Given the description of an element on the screen output the (x, y) to click on. 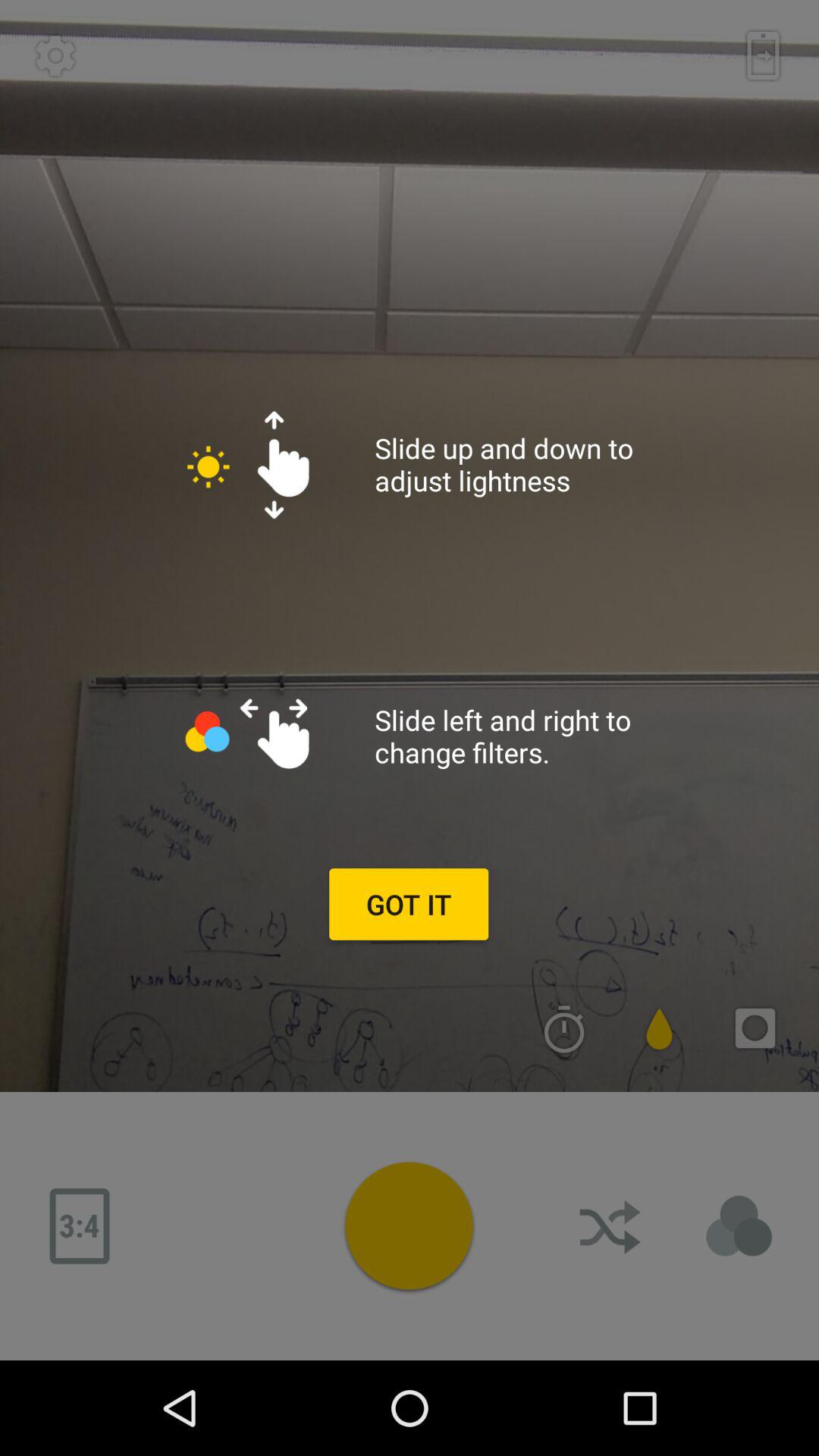
go to alarm (563, 1028)
